Given the description of an element on the screen output the (x, y) to click on. 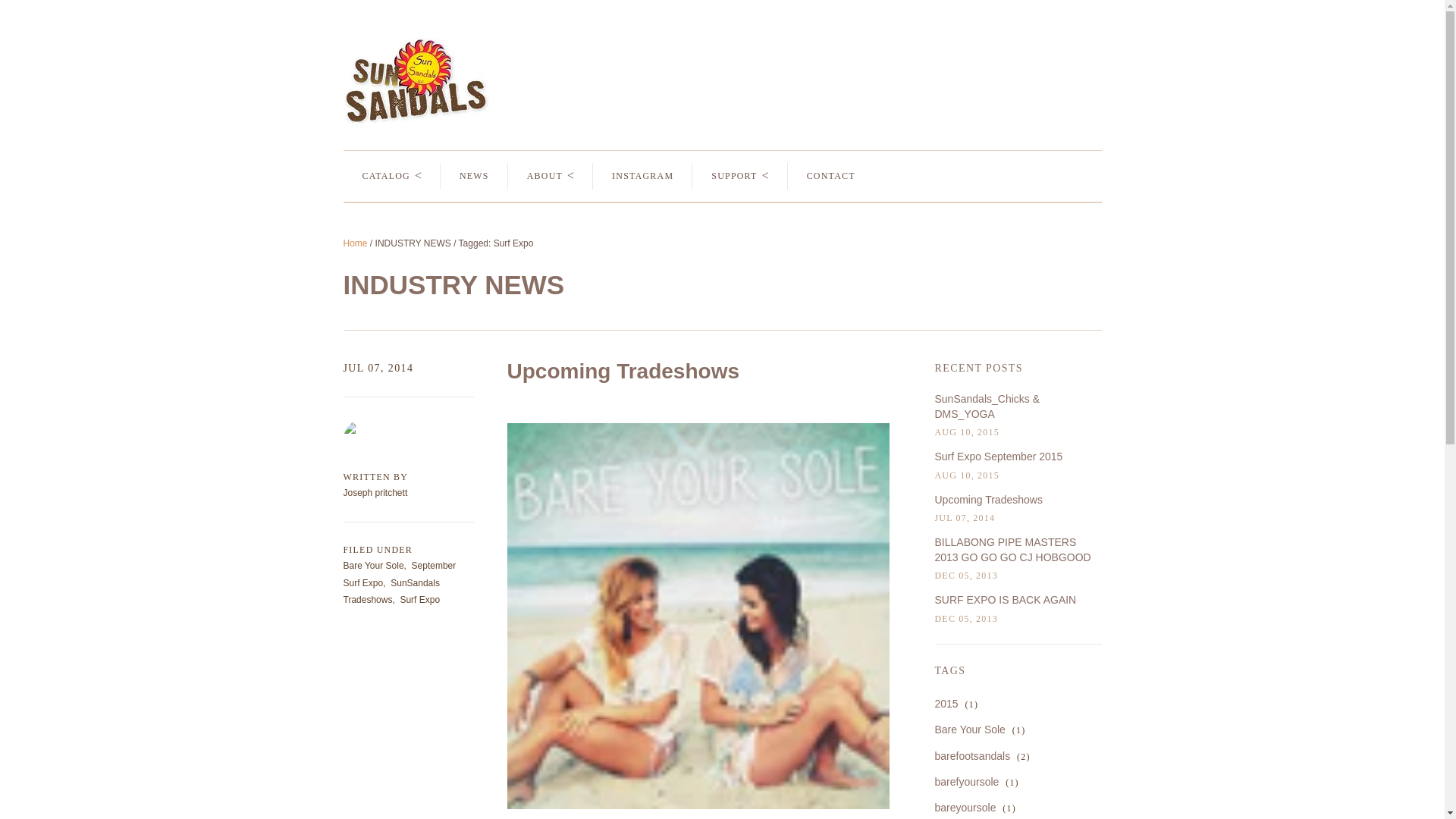
INSTAGRAM (642, 175)
CONTACT (831, 175)
September Surf Expo (398, 574)
NEWS (474, 175)
Home (354, 243)
SunSandals Tradeshows (390, 591)
Bare Your Sole (372, 565)
